Given the description of an element on the screen output the (x, y) to click on. 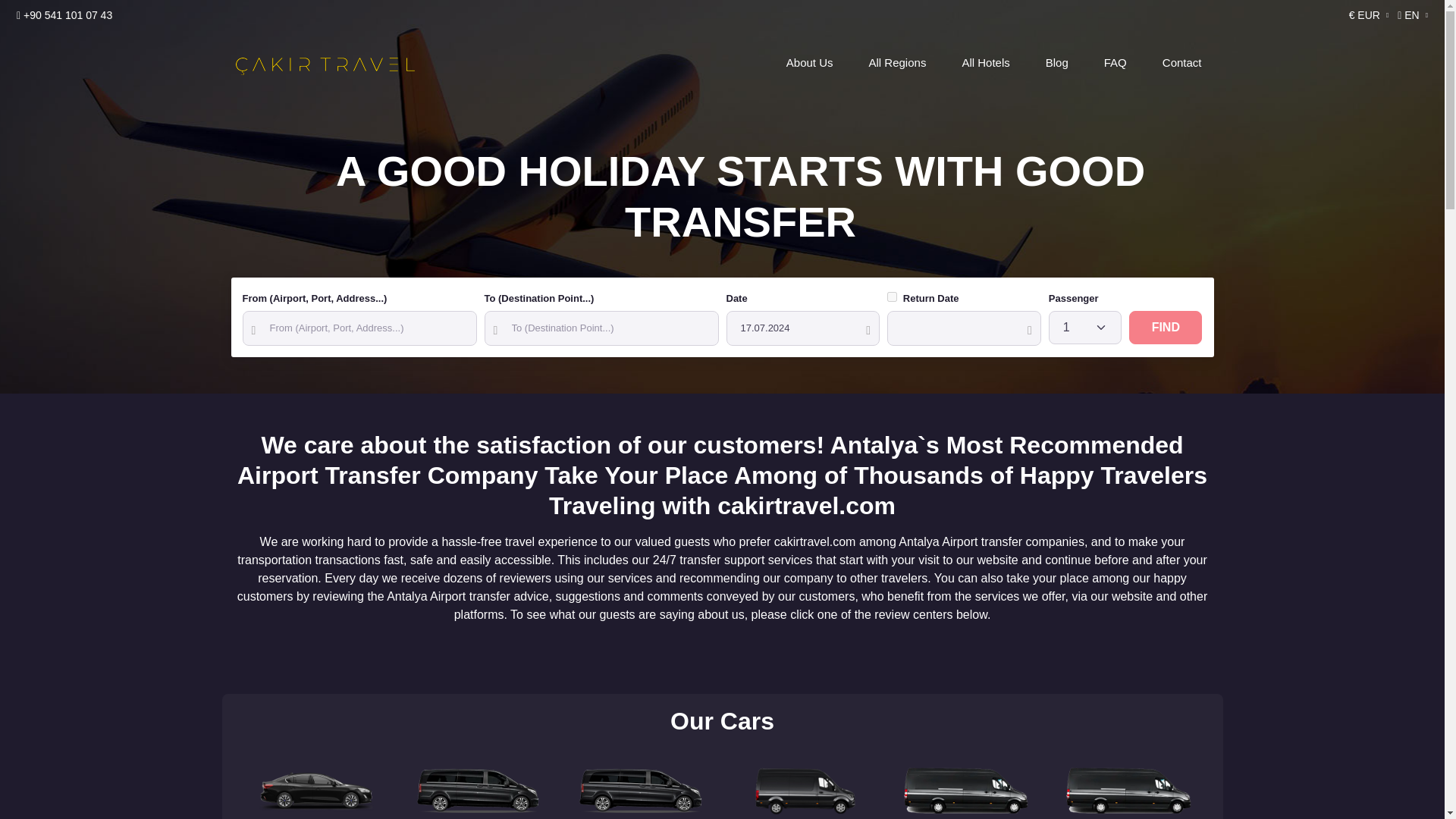
Blog (1056, 62)
All Regions (898, 62)
All Hotels (985, 62)
EN (1411, 14)
FAQ (1115, 62)
17.07.2024 (803, 328)
FIND (1165, 327)
Contact (1182, 62)
1 (891, 296)
About Us (809, 62)
